Given the description of an element on the screen output the (x, y) to click on. 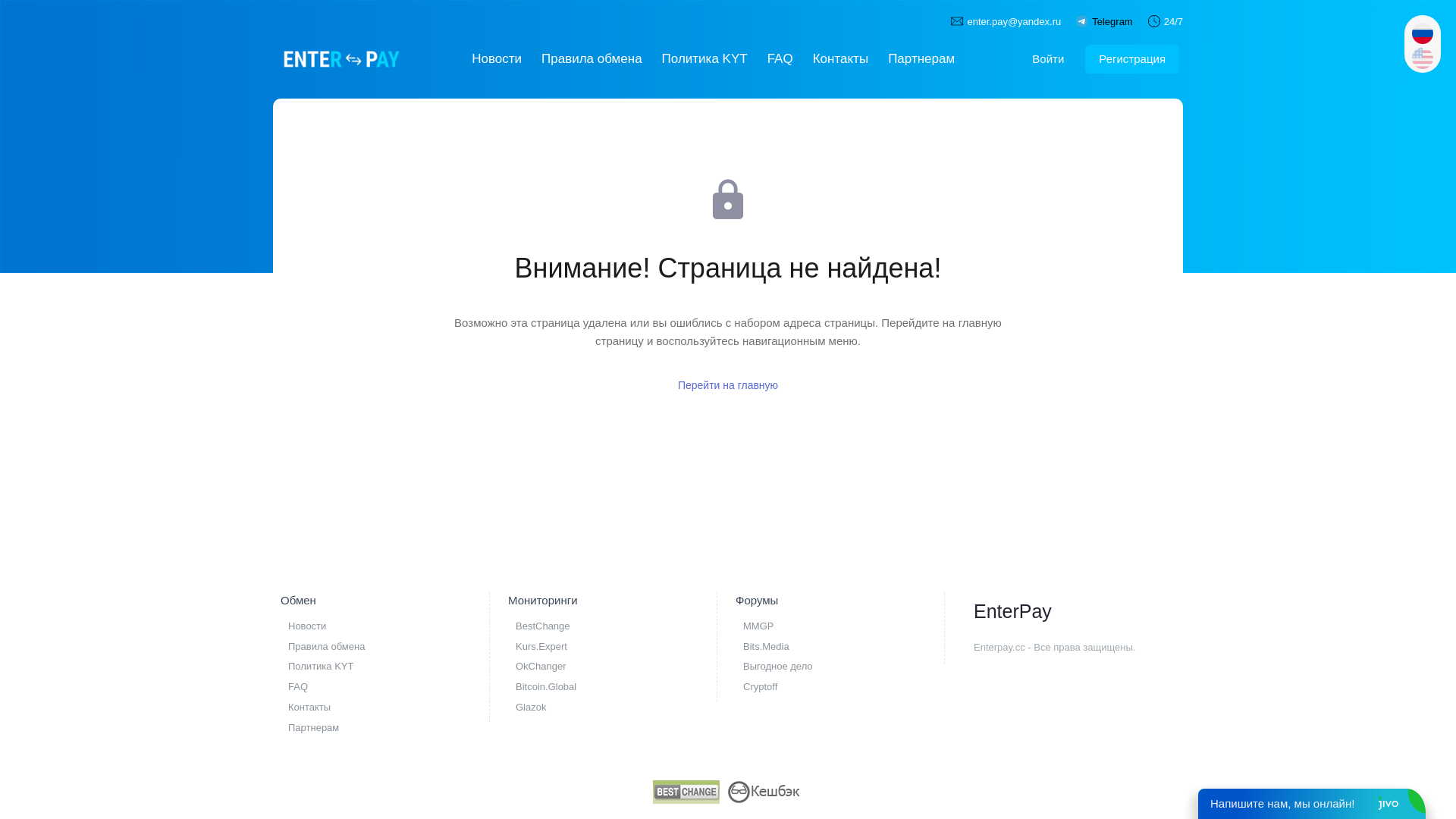
Bits.Media Element type: text (849, 646)
Glazok Element type: text (621, 707)
Kurs.Expert Element type: text (621, 646)
MMGP Element type: text (849, 626)
OkChanger Element type: text (621, 666)
FAQ Element type: text (780, 59)
Cryptoff Element type: text (849, 686)
BestChange Element type: text (621, 626)
Bitcoin.Global Element type: text (621, 686)
Telegram Element type: text (1112, 20)
EnterPay Element type: hover (341, 58)
FAQ Element type: text (394, 686)
